Given the description of an element on the screen output the (x, y) to click on. 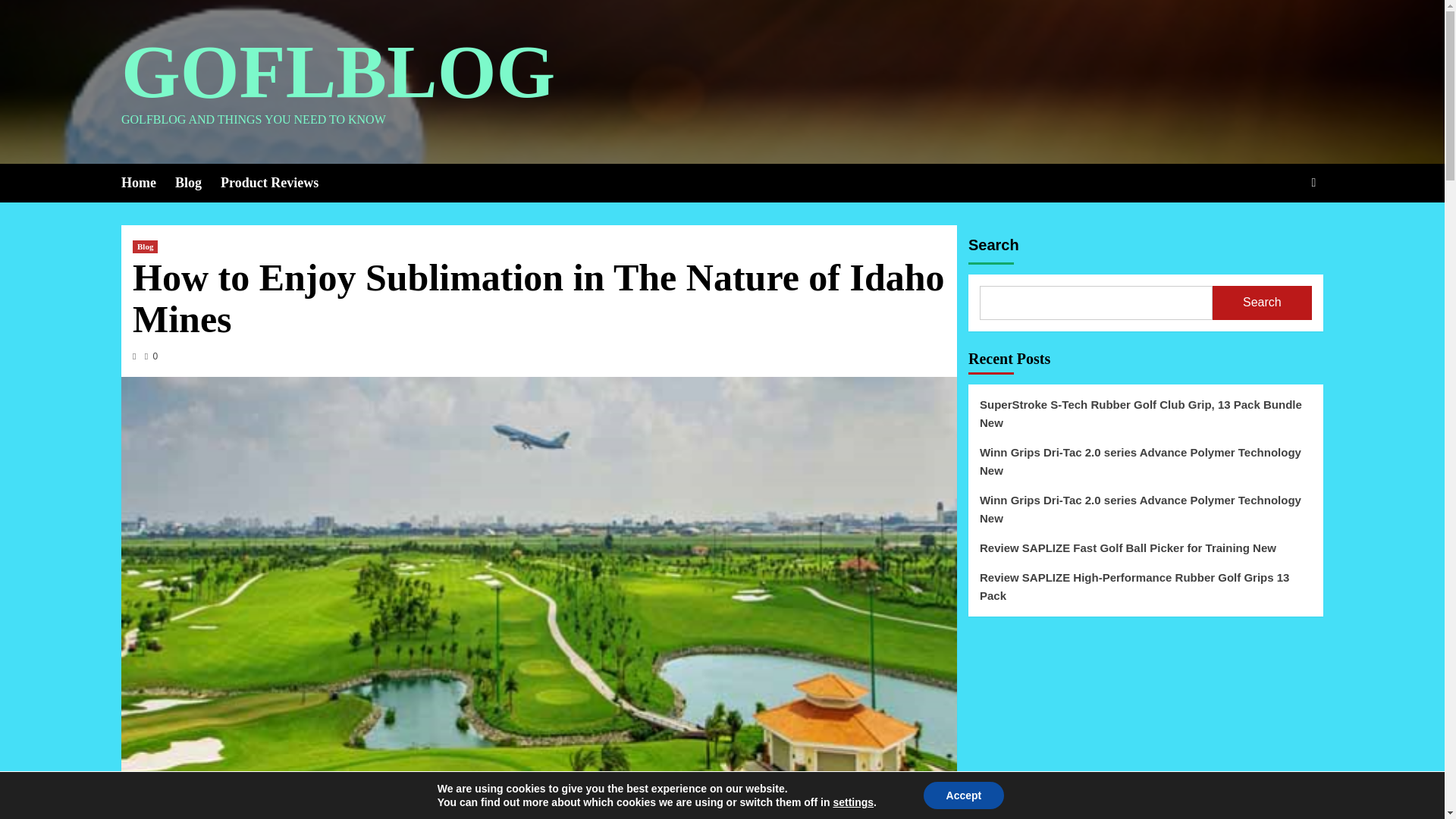
Product Reviews (279, 182)
Home (147, 182)
GOFLBLOG (337, 71)
Search (1278, 229)
Blog (197, 182)
0 (150, 356)
Search (1313, 181)
Blog (144, 246)
